Given the description of an element on the screen output the (x, y) to click on. 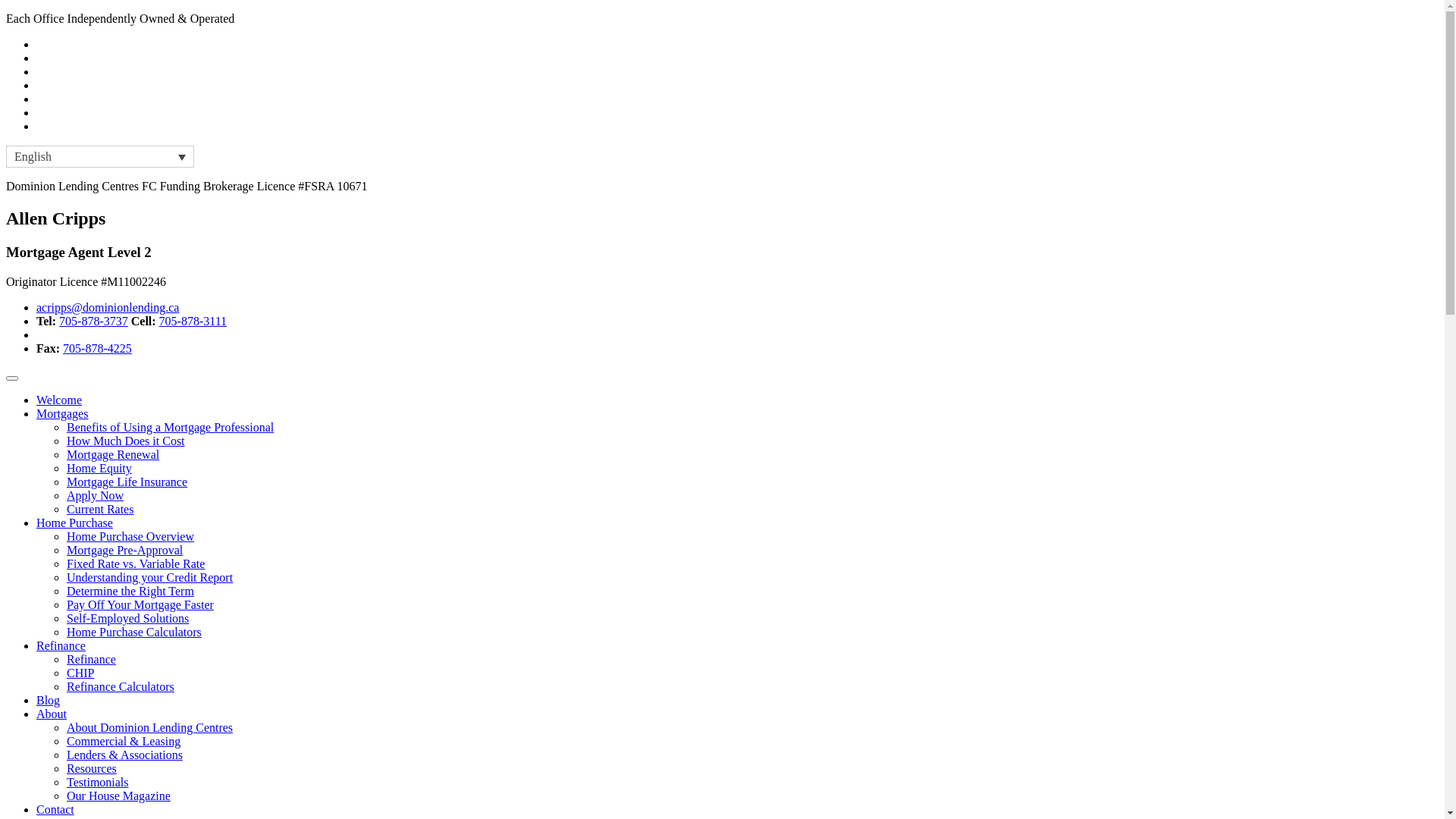
English Element type: text (100, 156)
Contact Element type: text (55, 809)
Apply Now Element type: text (94, 495)
Self-Employed Solutions Element type: text (127, 617)
About Dominion Lending Centres Element type: text (149, 727)
acripps@dominionlending.ca Element type: text (107, 307)
Welcome Element type: text (58, 399)
Lenders & Associations Element type: text (124, 754)
Commercial & Leasing Element type: text (123, 740)
Current Rates Element type: text (99, 508)
Mortgage Renewal Element type: text (112, 454)
705-878-3111 Element type: text (192, 320)
Refinance Calculators Element type: text (120, 686)
Refinance Element type: text (91, 658)
Fixed Rate vs. Variable Rate Element type: text (135, 563)
How Much Does it Cost Element type: text (125, 440)
Home Purchase Calculators Element type: text (133, 631)
Refinance Element type: text (60, 645)
Home Purchase Overview Element type: text (130, 536)
705-878-3737 Element type: text (93, 320)
CHIP Element type: text (80, 672)
Home Purchase Element type: text (74, 522)
Benefits of Using a Mortgage Professional Element type: text (169, 426)
Mortgage Life Insurance Element type: text (126, 481)
Our House Magazine Element type: text (118, 795)
Pay Off Your Mortgage Faster Element type: text (139, 604)
Resources Element type: text (91, 768)
Mortgages Element type: text (61, 413)
About Element type: text (51, 713)
Testimonials Element type: text (97, 781)
Mortgage Pre-Approval Element type: text (124, 549)
Determine the Right Term Element type: text (130, 590)
Understanding your Credit Report Element type: text (149, 577)
Home Equity Element type: text (98, 467)
705-878-4225 Element type: text (96, 348)
Blog Element type: text (47, 699)
